Given the description of an element on the screen output the (x, y) to click on. 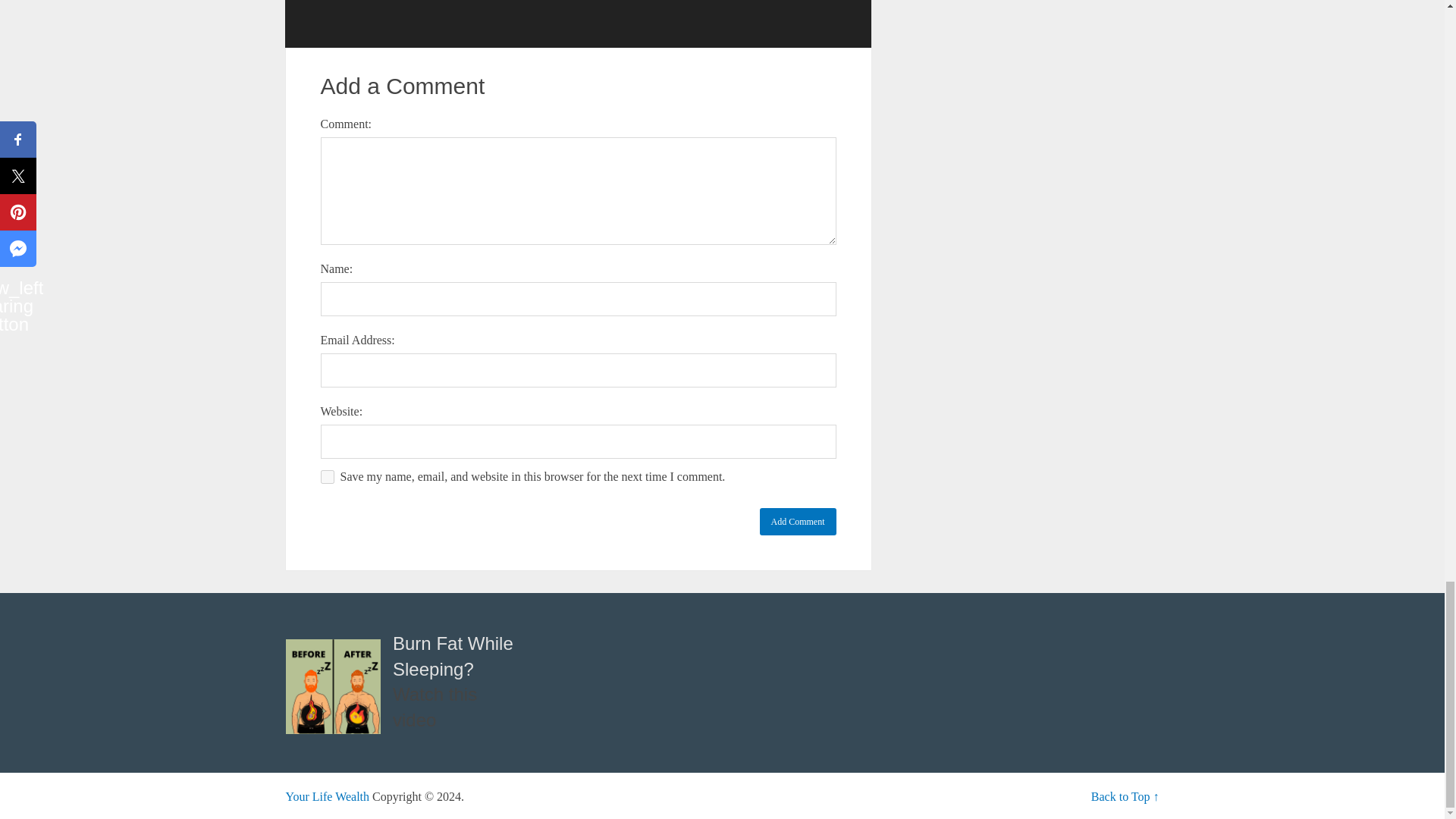
yes (326, 477)
Add Comment (797, 521)
Health and Wellness, Building Wealth  for a Better Life (327, 796)
